Given the description of an element on the screen output the (x, y) to click on. 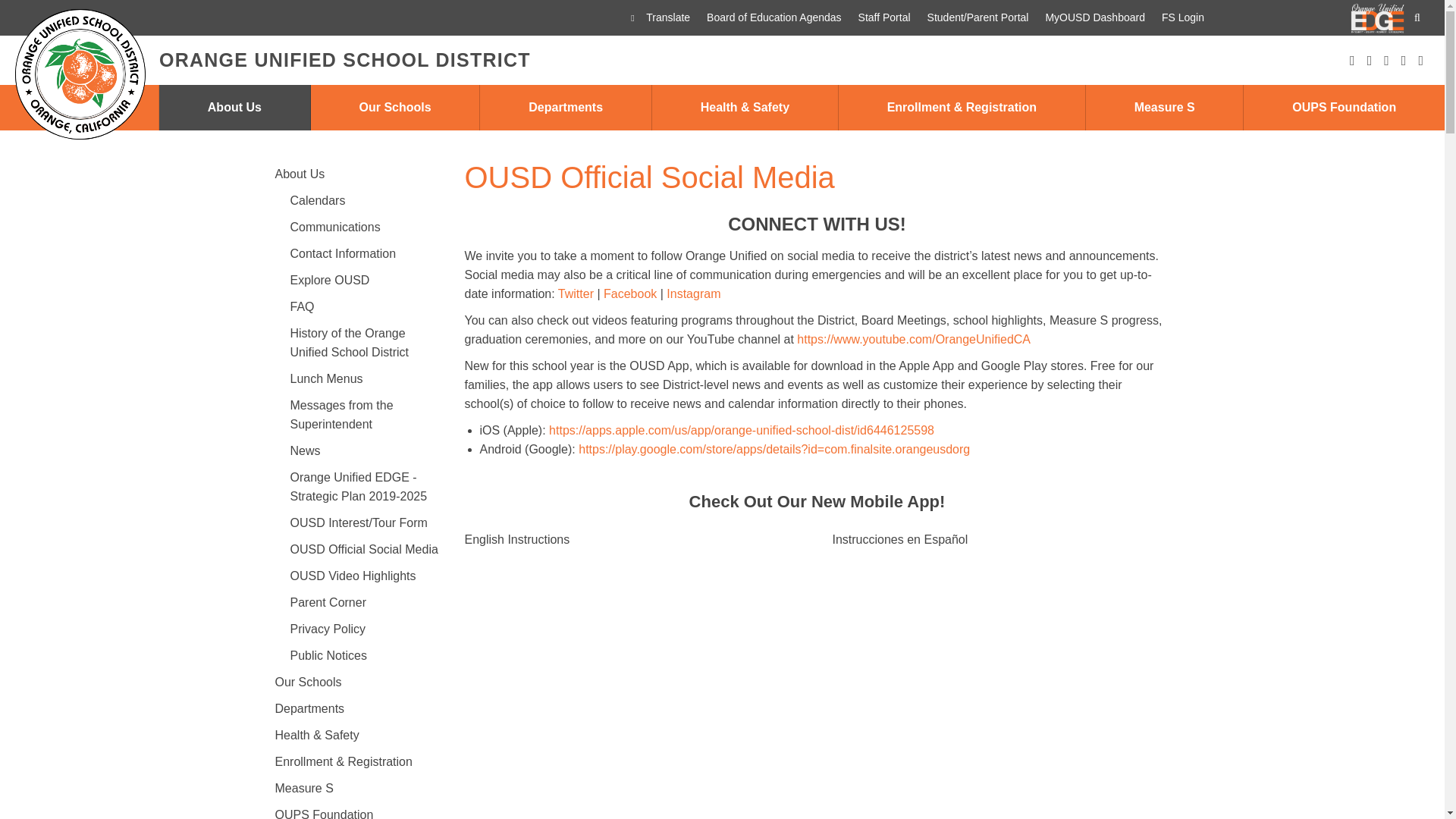
YouTube video player (633, 683)
YouTube video player (1001, 683)
